Given the description of an element on the screen output the (x, y) to click on. 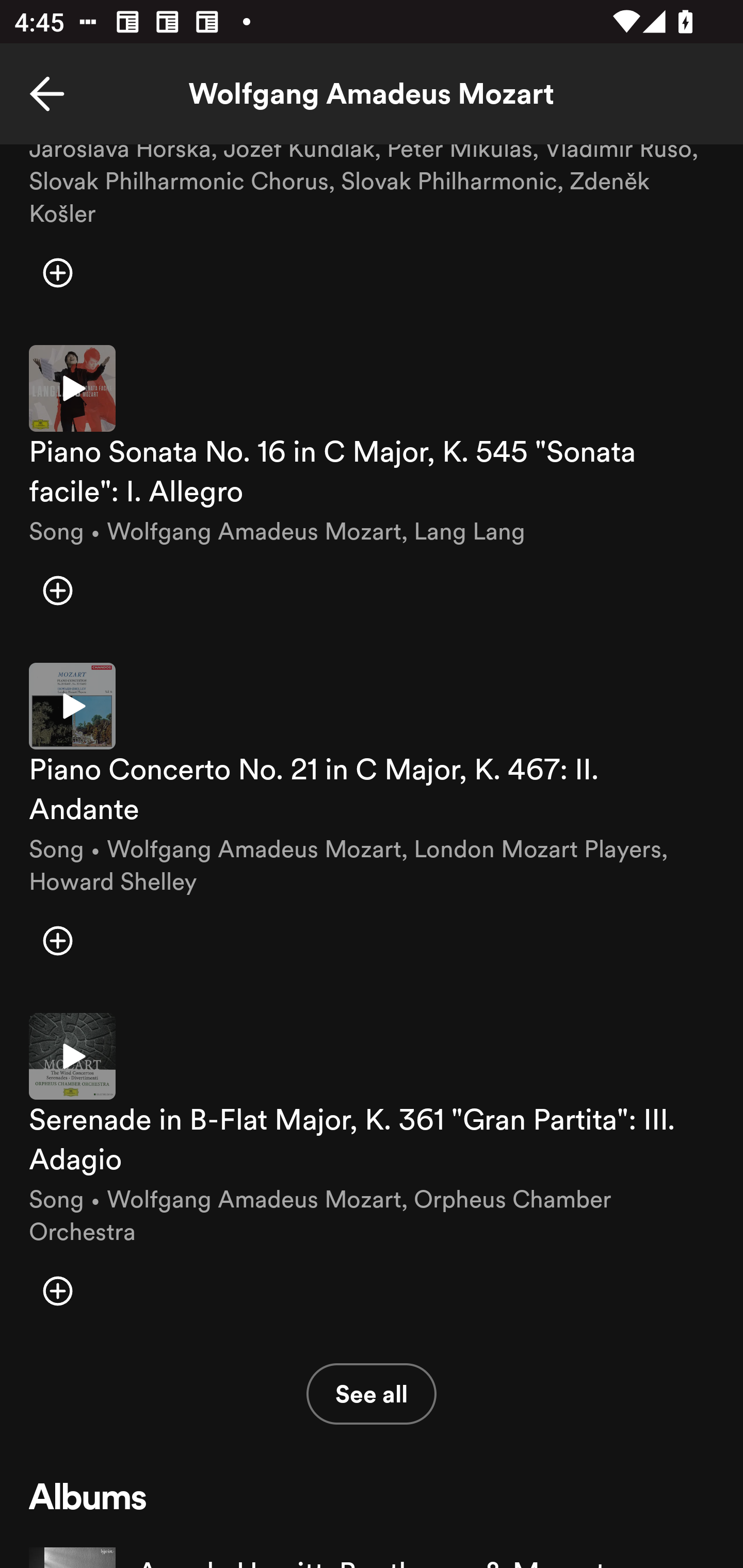
Back (46, 93)
Add item (57, 272)
Play preview (71, 387)
Add item (57, 590)
Play preview (71, 706)
Add item (57, 940)
Play preview (71, 1055)
Add item (57, 1291)
See all (371, 1393)
